Given the description of an element on the screen output the (x, y) to click on. 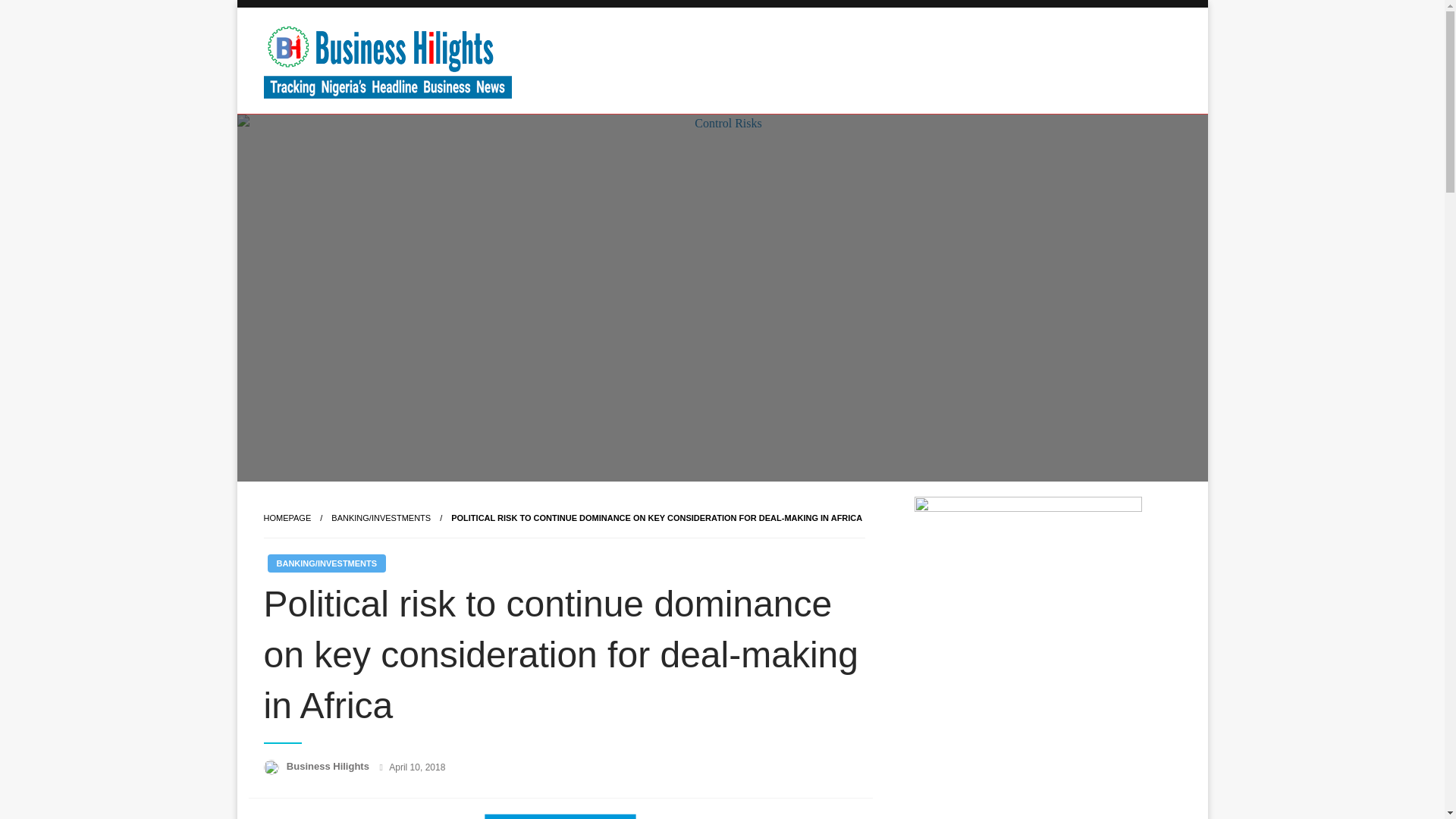
Homepage (287, 517)
Business Hilights (329, 766)
HOMEPAGE (287, 517)
Business Hilights (329, 766)
April 10, 2018 (416, 767)
Business Hilights (379, 125)
